Given the description of an element on the screen output the (x, y) to click on. 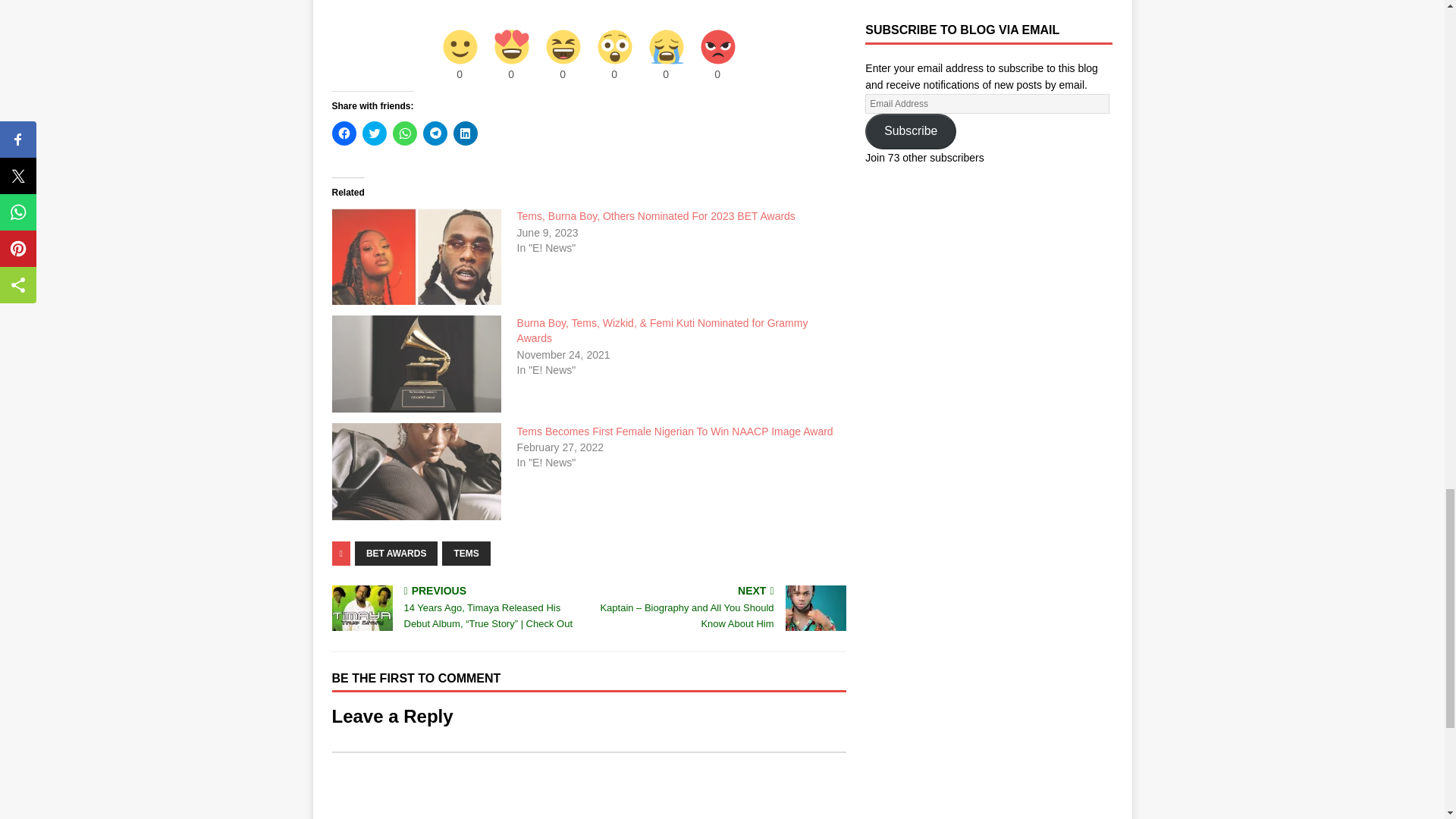
Click to share on Twitter (374, 133)
Click to share on Telegram (434, 133)
Click to share on WhatsApp (404, 133)
Tems, Burna Boy, Others Nominated For 2023 BET Awards (655, 215)
Tems, Burna Boy, Others Nominated For 2023 BET Awards (655, 215)
Click to share on Facebook (343, 133)
Tems Becomes First Female Nigerian To Win NAACP Image Award (674, 431)
Click to share on LinkedIn (464, 133)
